Given the description of an element on the screen output the (x, y) to click on. 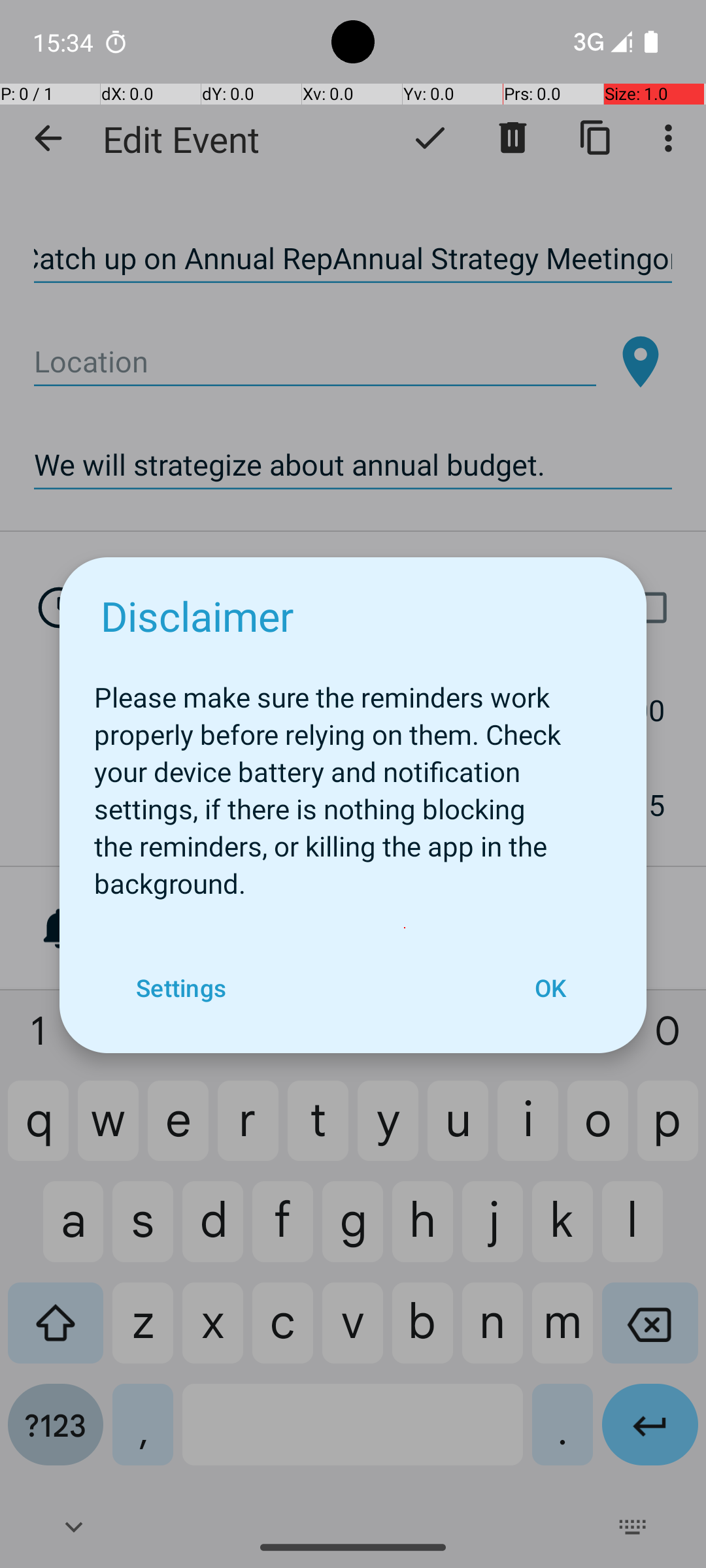
Disclaimer Element type: android.widget.TextView (196, 615)
Please make sure the reminders work properly before relying on them. Check your device battery and notification settings, if there is nothing blocking the reminders, or killing the app in the background. Element type: android.widget.TextView (352, 782)
